Given the description of an element on the screen output the (x, y) to click on. 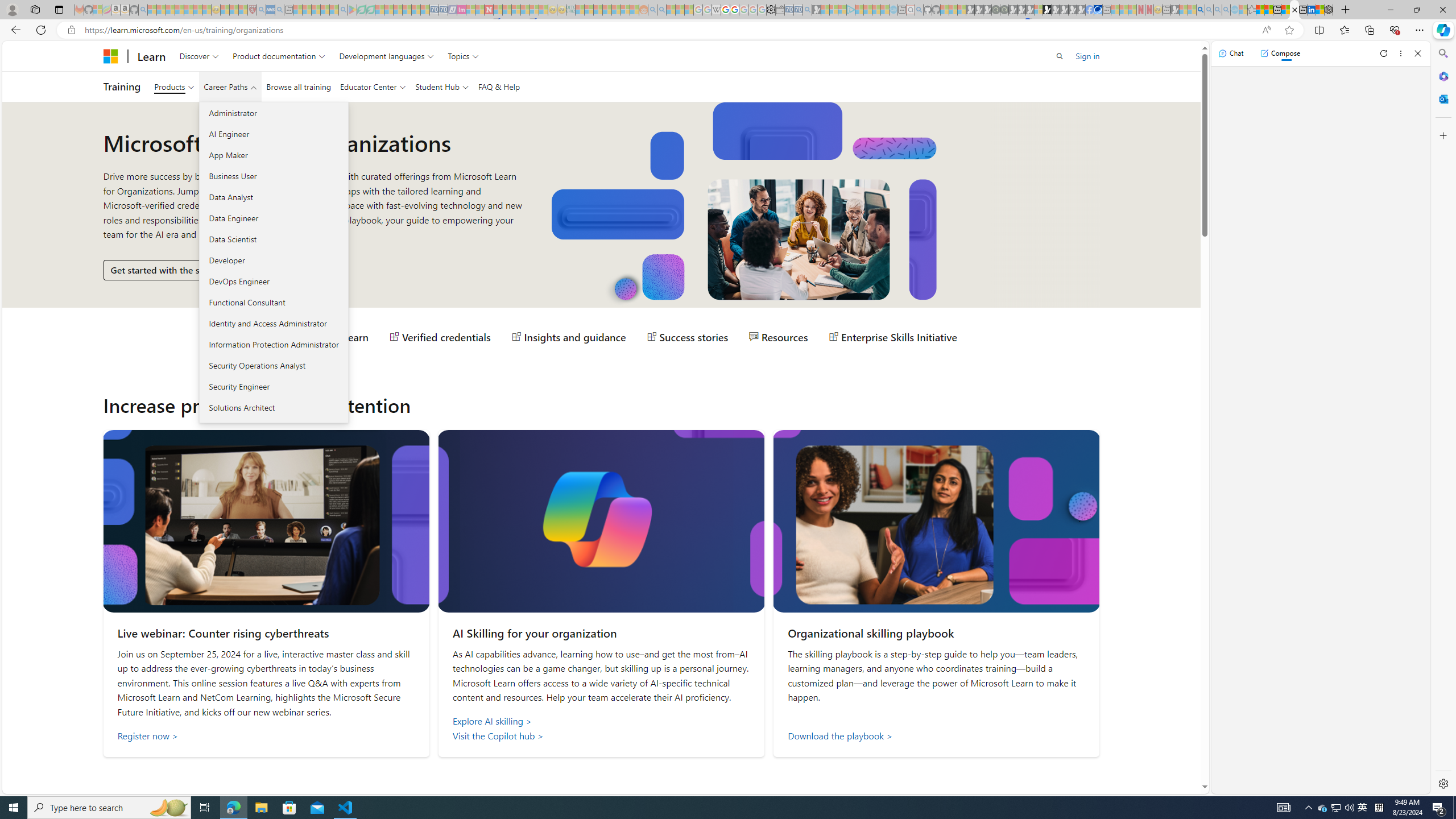
Administrator (273, 112)
Success stories (687, 336)
Nordace | Facebook - Sleeping (1089, 9)
